Given the description of an element on the screen output the (x, y) to click on. 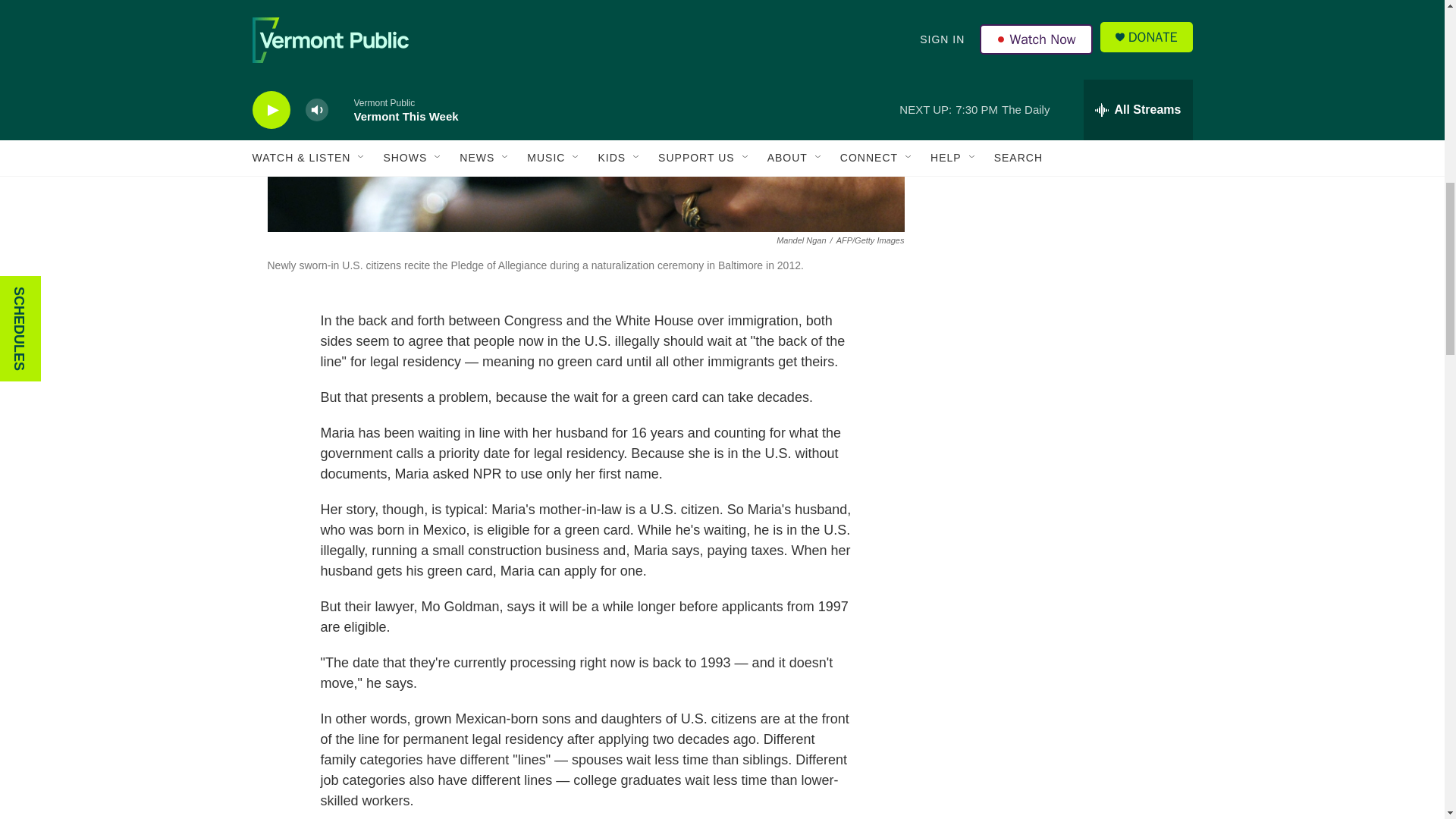
3rd party ad content (1062, 124)
3rd party ad content (1062, 343)
